Given the description of an element on the screen output the (x, y) to click on. 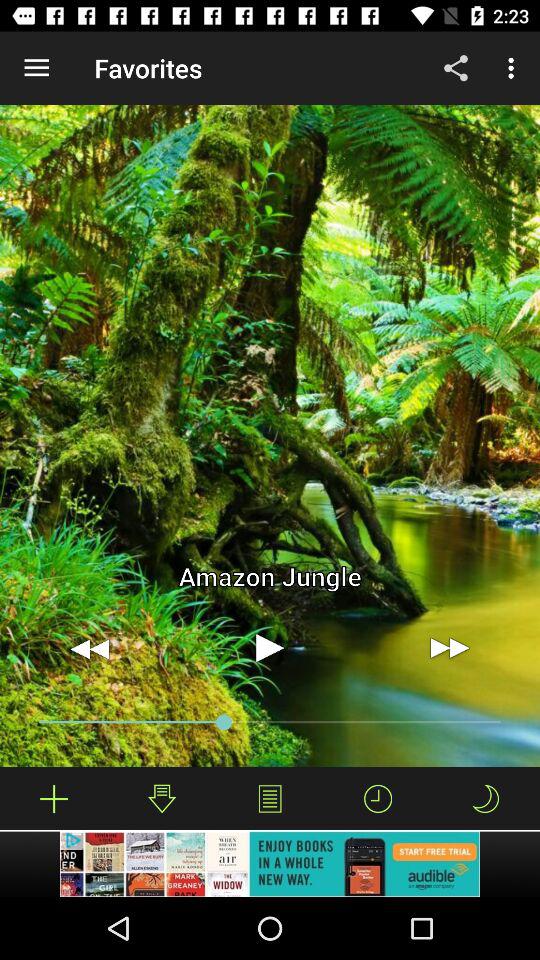
download (162, 798)
